Given the description of an element on the screen output the (x, y) to click on. 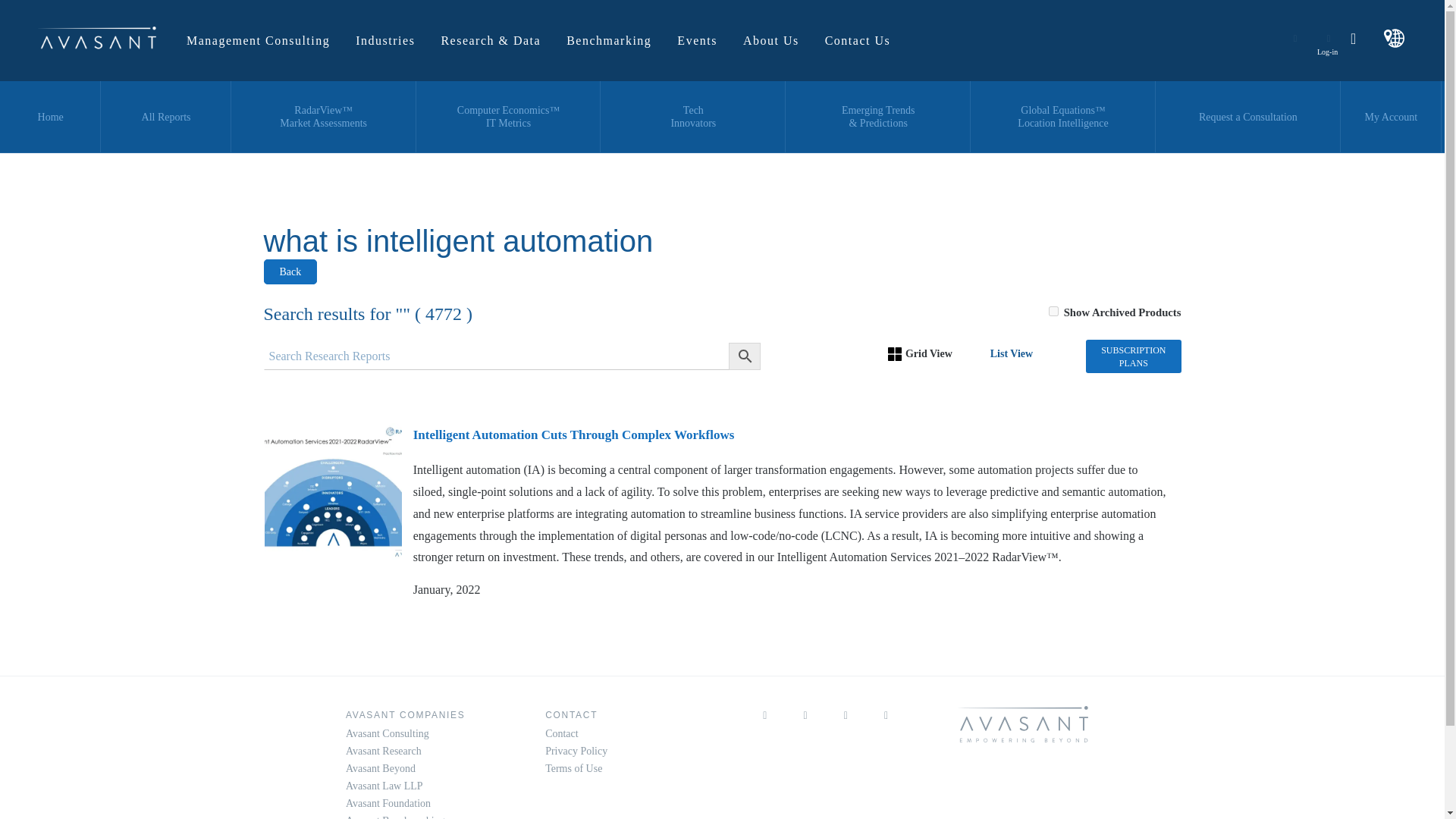
Log-in (1328, 37)
Youtube (845, 725)
true (1053, 311)
Facebook (885, 725)
Intelligent Automation Cuts Through Complex Workflows (332, 491)
Management Consulting (258, 40)
Avasant (96, 37)
Twitter (804, 725)
LinkedIn (764, 725)
